Given the description of an element on the screen output the (x, y) to click on. 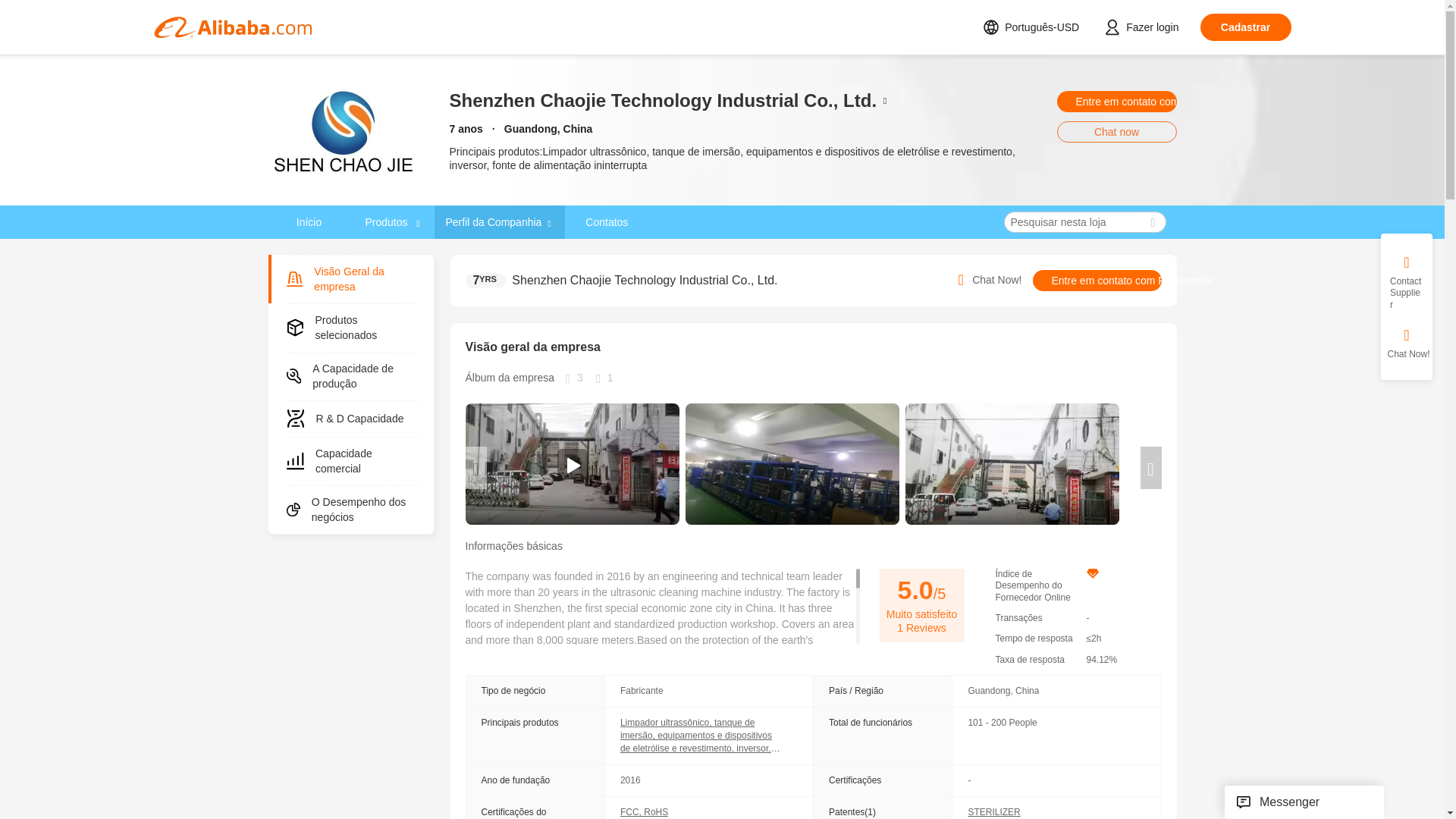
Produtos (391, 222)
Entre em contato com o comerciante (1116, 101)
Entre em contato com o comerciante (1116, 101)
Produtos (386, 222)
Chat now (1116, 131)
